Given the description of an element on the screen output the (x, y) to click on. 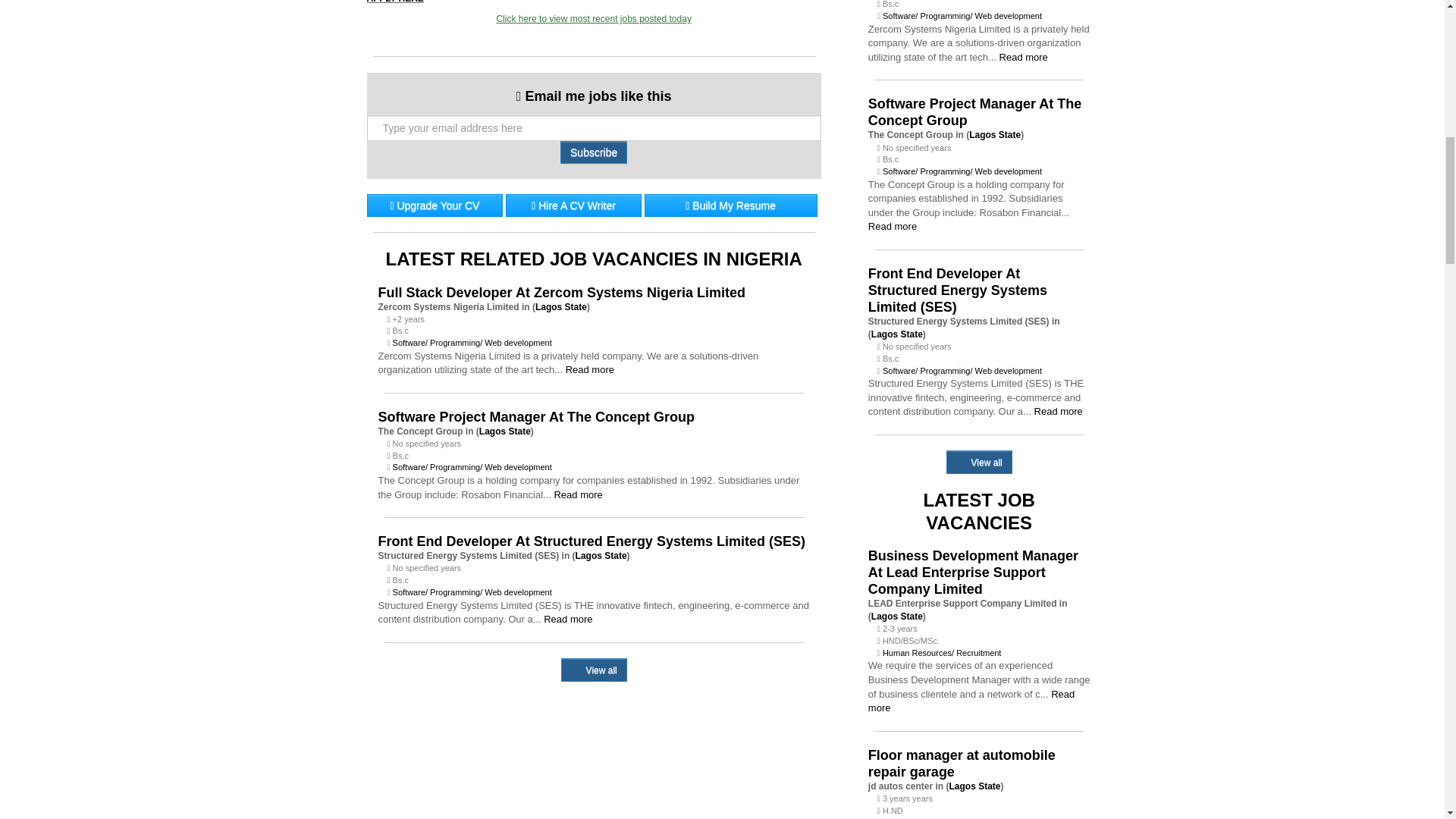
Click here to view most recent jobs posted today (593, 18)
Full Stack Developer At Zercom Systems Nigeria Limited (593, 292)
APPLY HERE (394, 2)
Software Project Manager  At The Concept Group (593, 416)
Subscribe (593, 151)
